Given the description of an element on the screen output the (x, y) to click on. 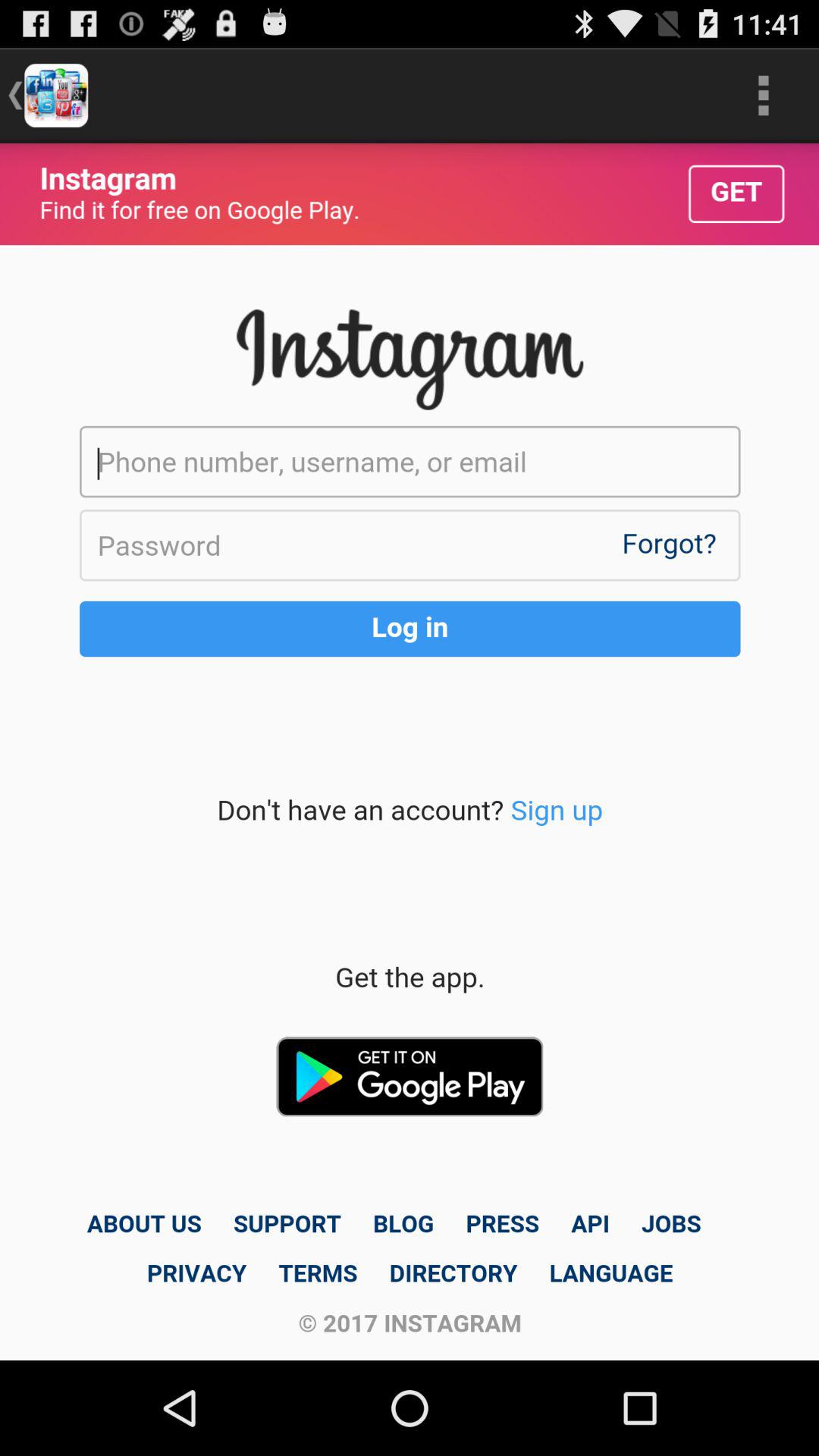
instagram app from google paly (409, 751)
